Given the description of an element on the screen output the (x, y) to click on. 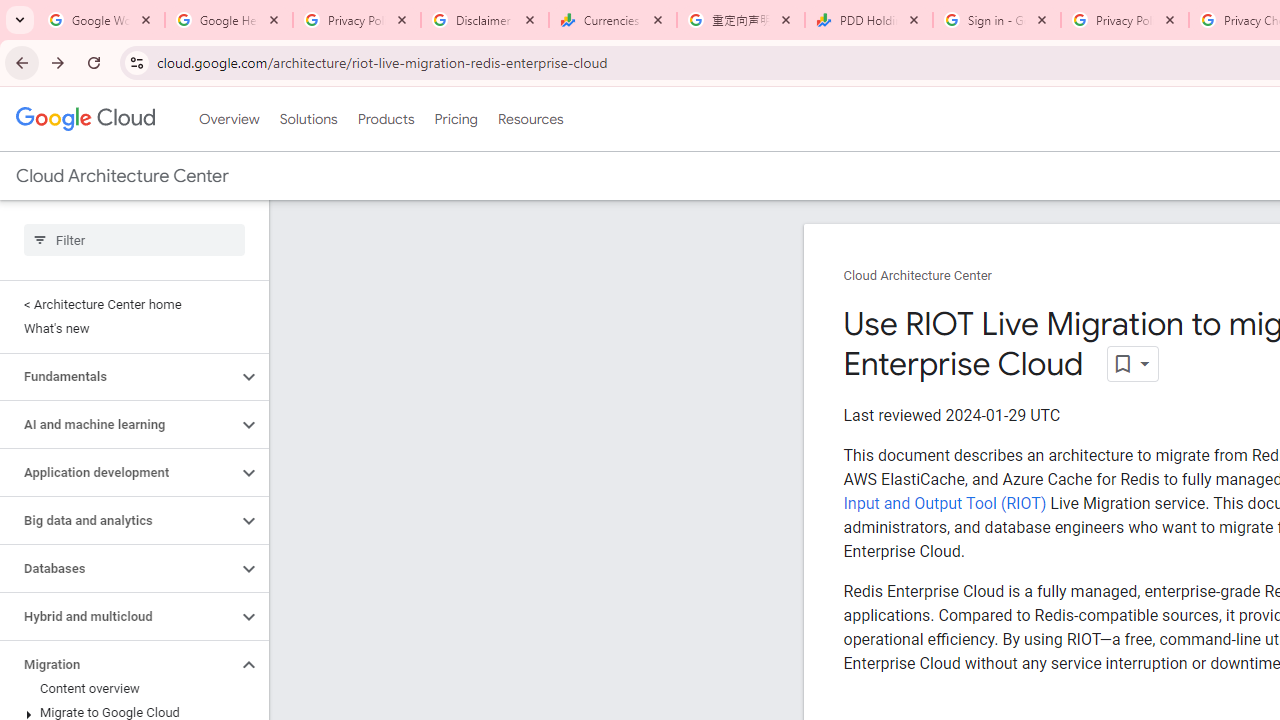
Content overview (130, 688)
Products (385, 119)
Pricing (455, 119)
Migration (118, 664)
Open dropdown (1131, 364)
What's new (130, 328)
Fundamentals (118, 376)
Currencies - Google Finance (613, 20)
Solutions (308, 119)
